Given the description of an element on the screen output the (x, y) to click on. 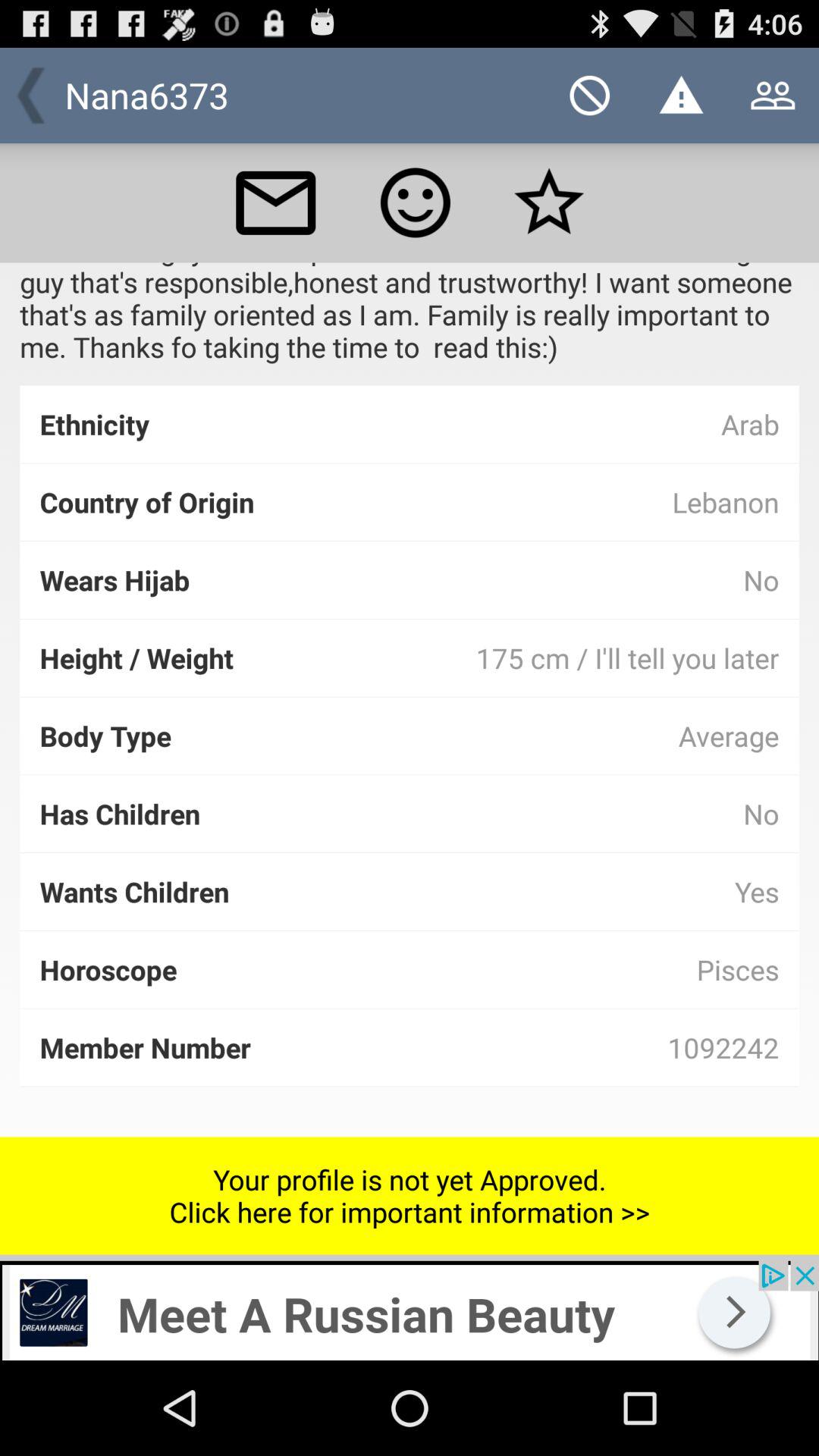
click inbox (275, 202)
